Given the description of an element on the screen output the (x, y) to click on. 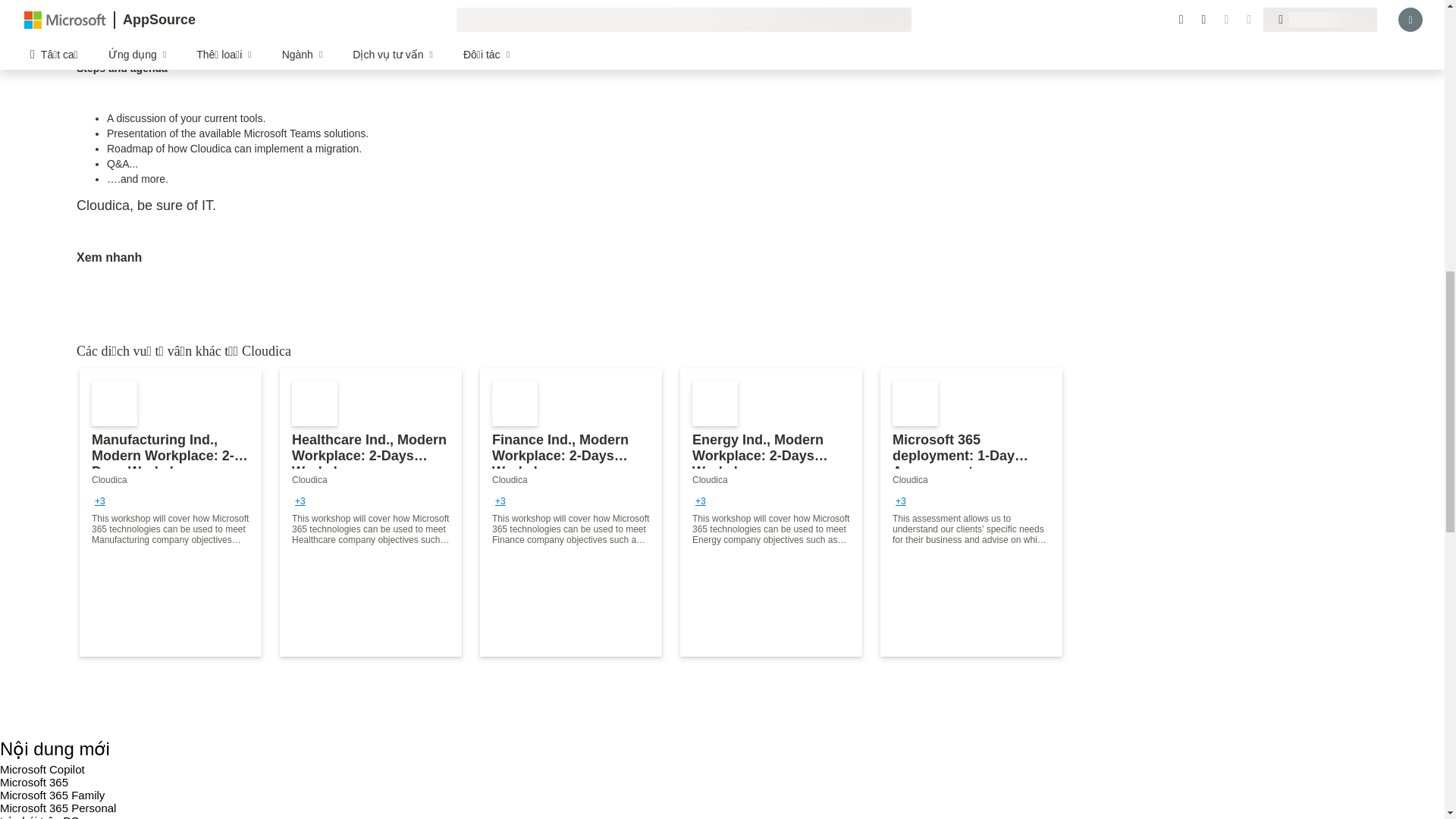
Energy Ind., Modern Workplace: 2-Days Workshop (770, 512)
Microsoft Copilot (42, 768)
Healthcare Ind., Modern Workplace: 2-Days Workshop (370, 512)
Manufacturing Ind., Modern Workplace: 2-Days Workshop (171, 512)
Microsoft 365 Personal (58, 807)
Microsoft 365 (34, 781)
Microsoft 365 Family (52, 794)
Microsoft 365 deployment: 1-Day Assessment (971, 512)
Finance Ind., Modern Workplace: 2-Days Workshop (571, 512)
